Given the description of an element on the screen output the (x, y) to click on. 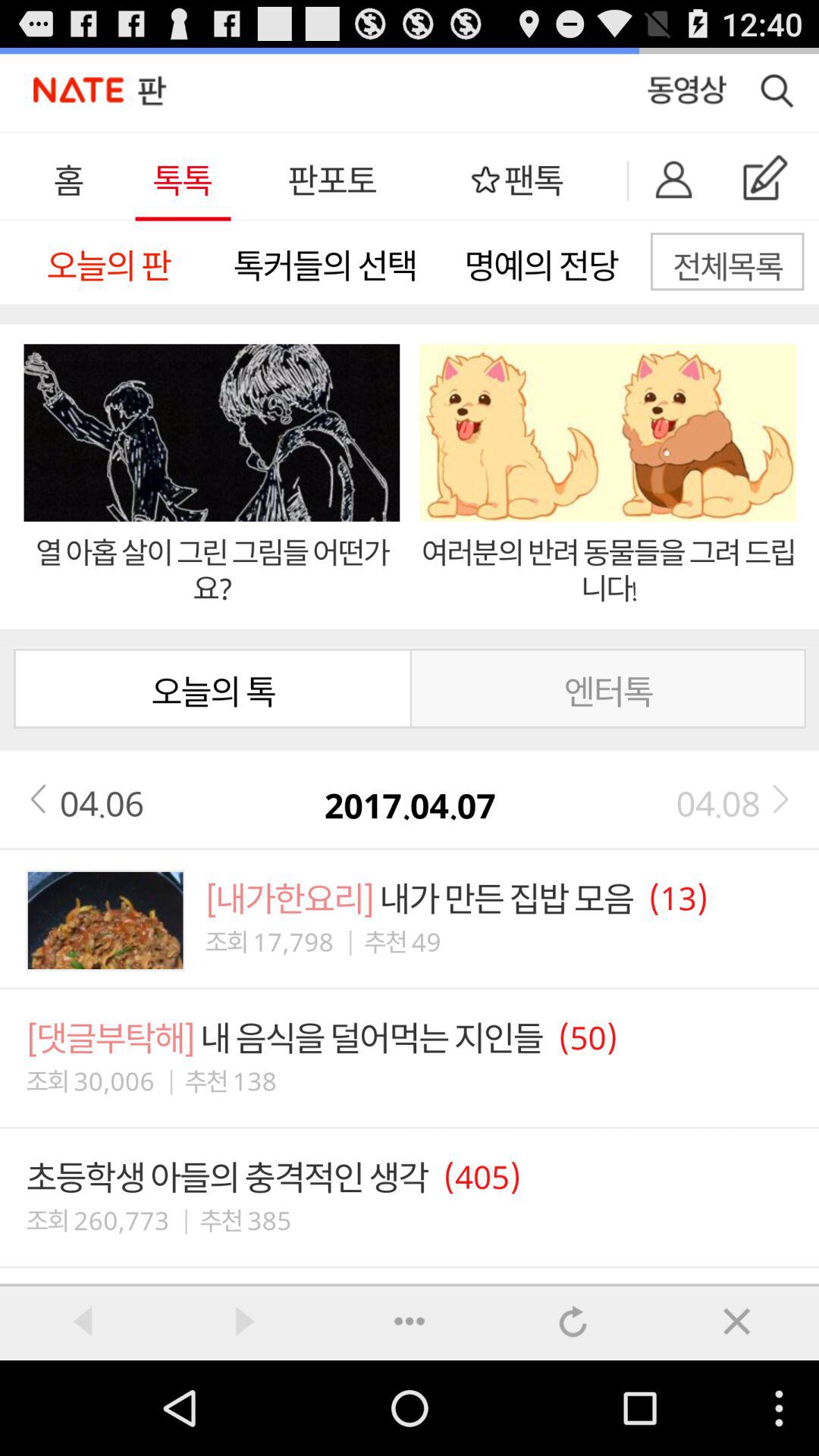
this button in reload (573, 1320)
